Given the description of an element on the screen output the (x, y) to click on. 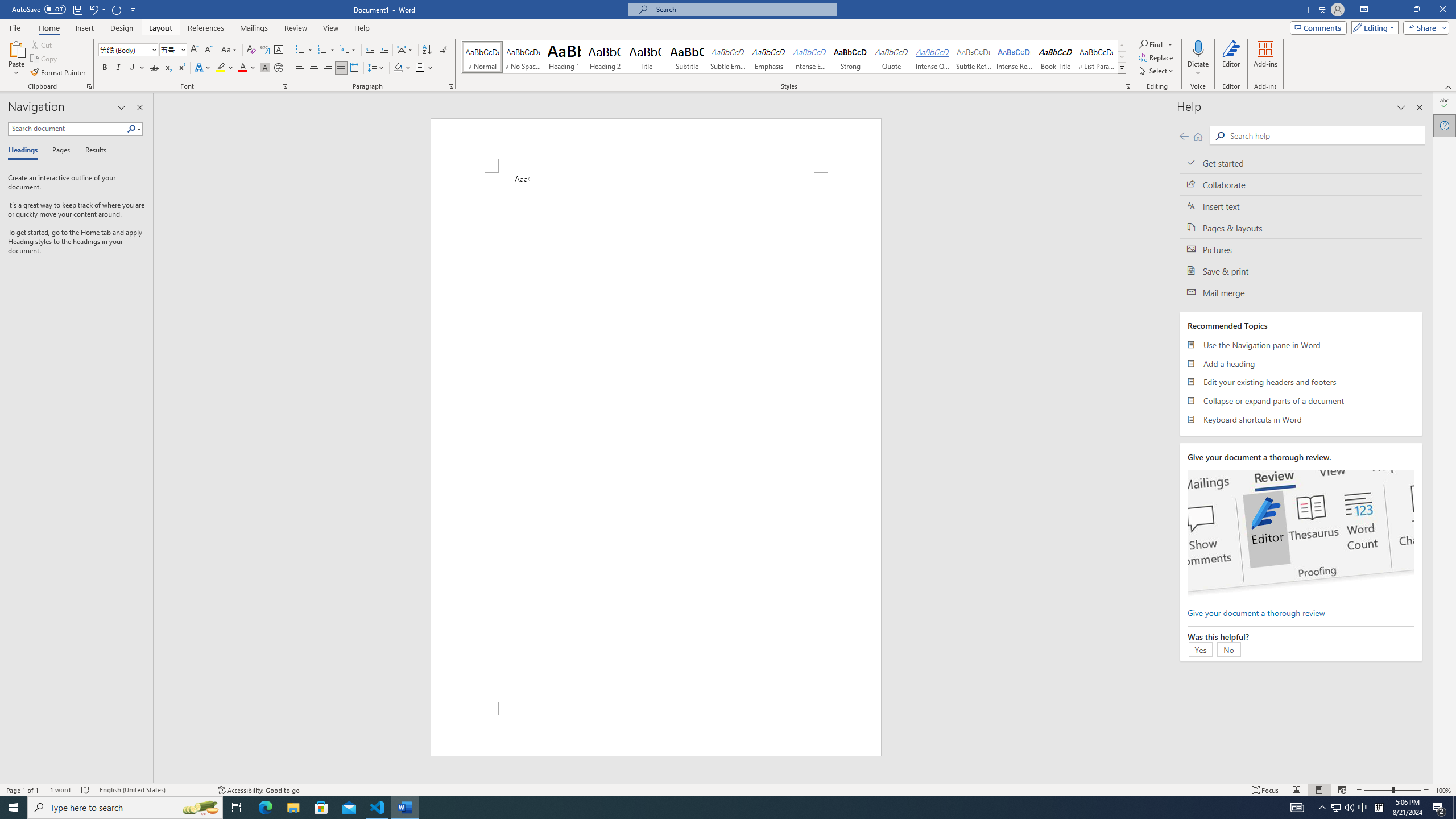
Shading RGB(0, 0, 0) (397, 67)
Keyboard shortcuts in Word (1300, 419)
Undo Increase Indent (92, 9)
Increase Indent (383, 49)
Subscript (167, 67)
Emphasis (768, 56)
Pictures (1300, 249)
Headings (25, 150)
Font Color Red (241, 67)
